Given the description of an element on the screen output the (x, y) to click on. 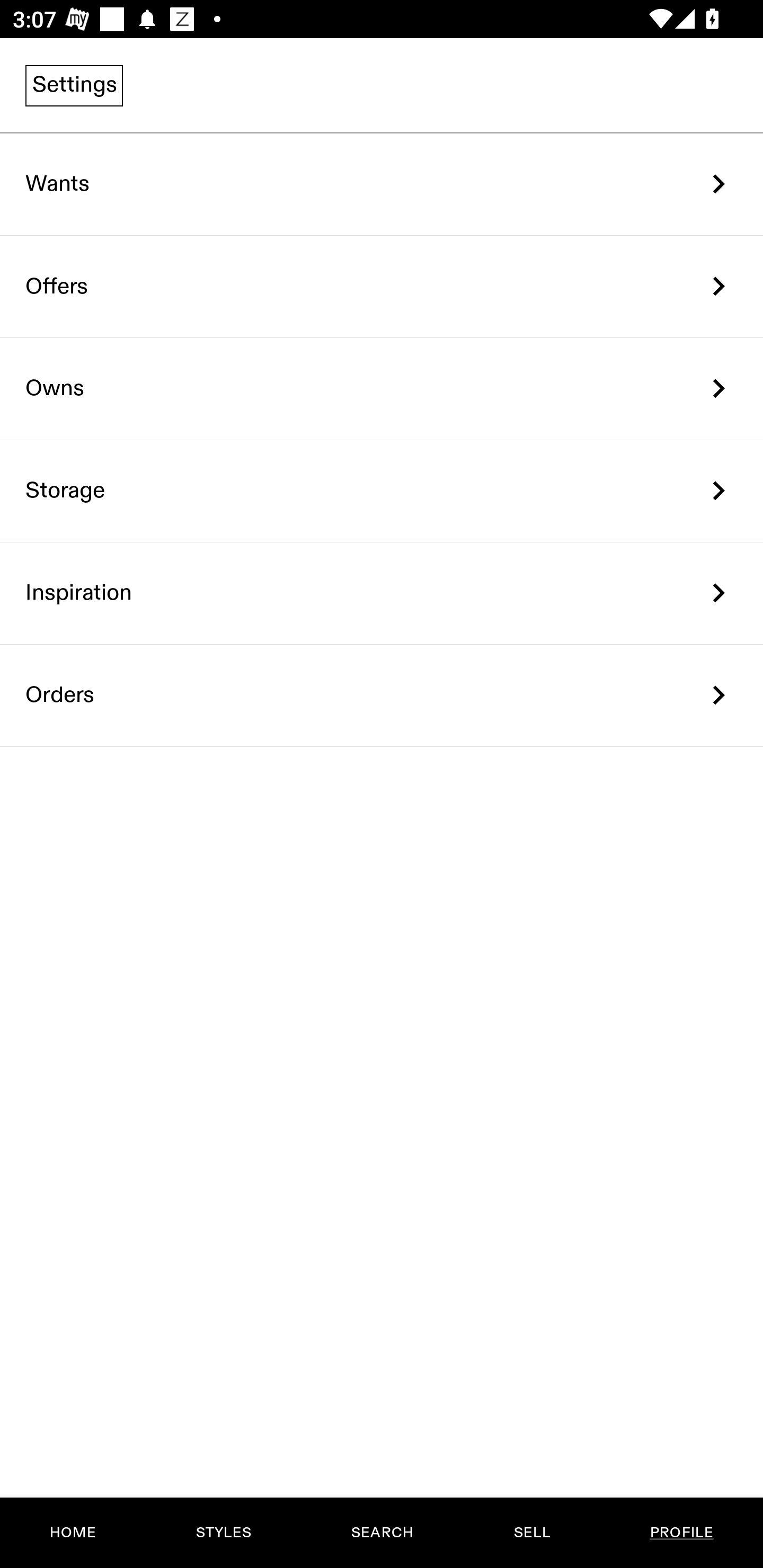
Settings (73, 85)
Wants (381, 184)
Offers (381, 286)
Owns (381, 388)
Storage (381, 491)
Inspiration (381, 593)
Orders (381, 695)
HOME (72, 1532)
STYLES (222, 1532)
SEARCH (381, 1532)
SELL (531, 1532)
PROFILE (681, 1532)
